Given the description of an element on the screen output the (x, y) to click on. 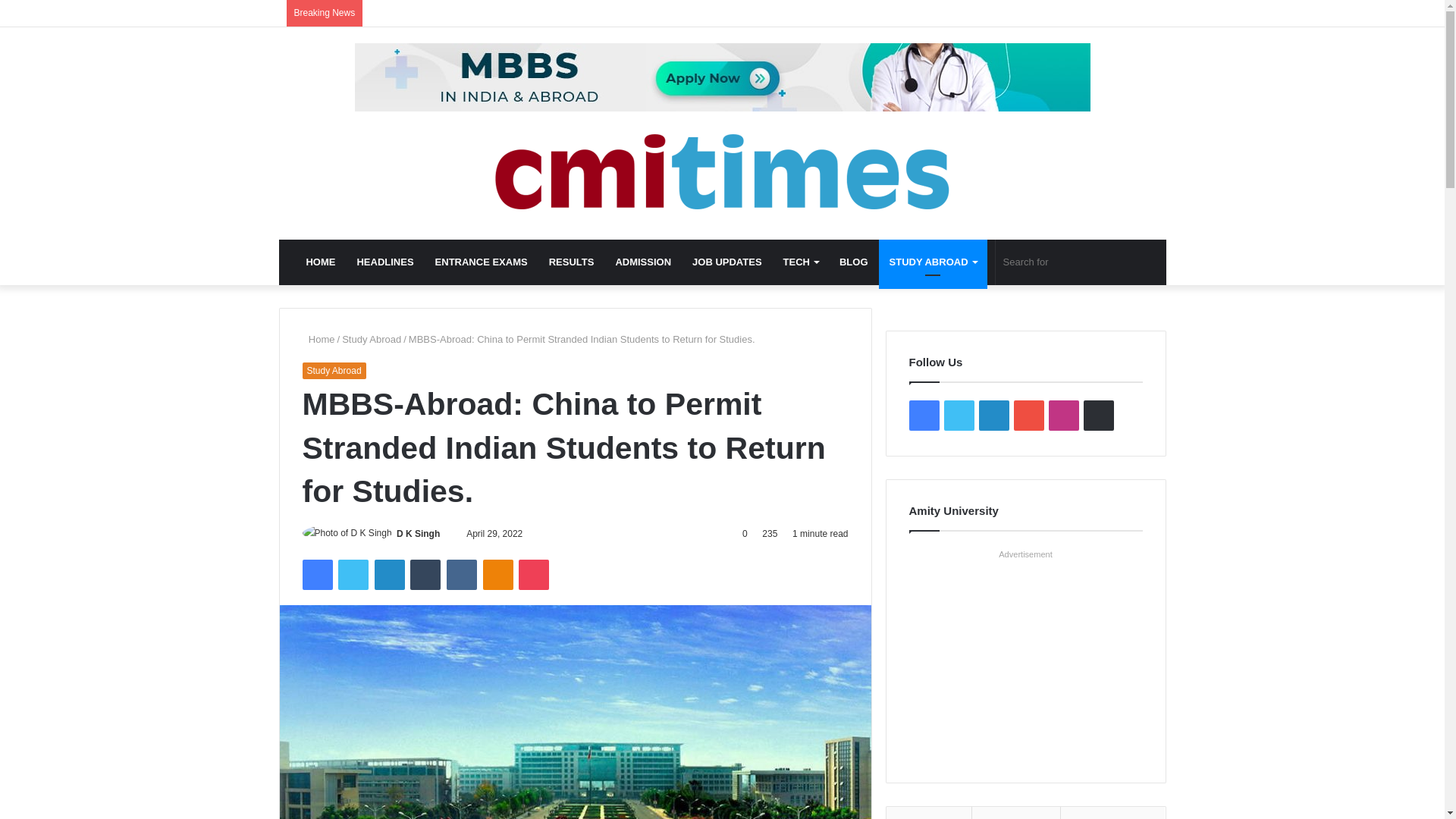
RESULTS (571, 262)
JOB UPDATES (727, 262)
STUDY ABROAD (933, 262)
Home (317, 338)
Twitter (352, 574)
LinkedIn (389, 574)
MBBS in Abroad is the most promising career choice  (722, 75)
Tumblr (425, 574)
Welcome to CMITimes (722, 171)
Search for (1072, 262)
Twitter (352, 574)
Odnoklassniki (498, 574)
TECH (800, 262)
Study Abroad (333, 370)
Study Abroad (371, 338)
